Given the description of an element on the screen output the (x, y) to click on. 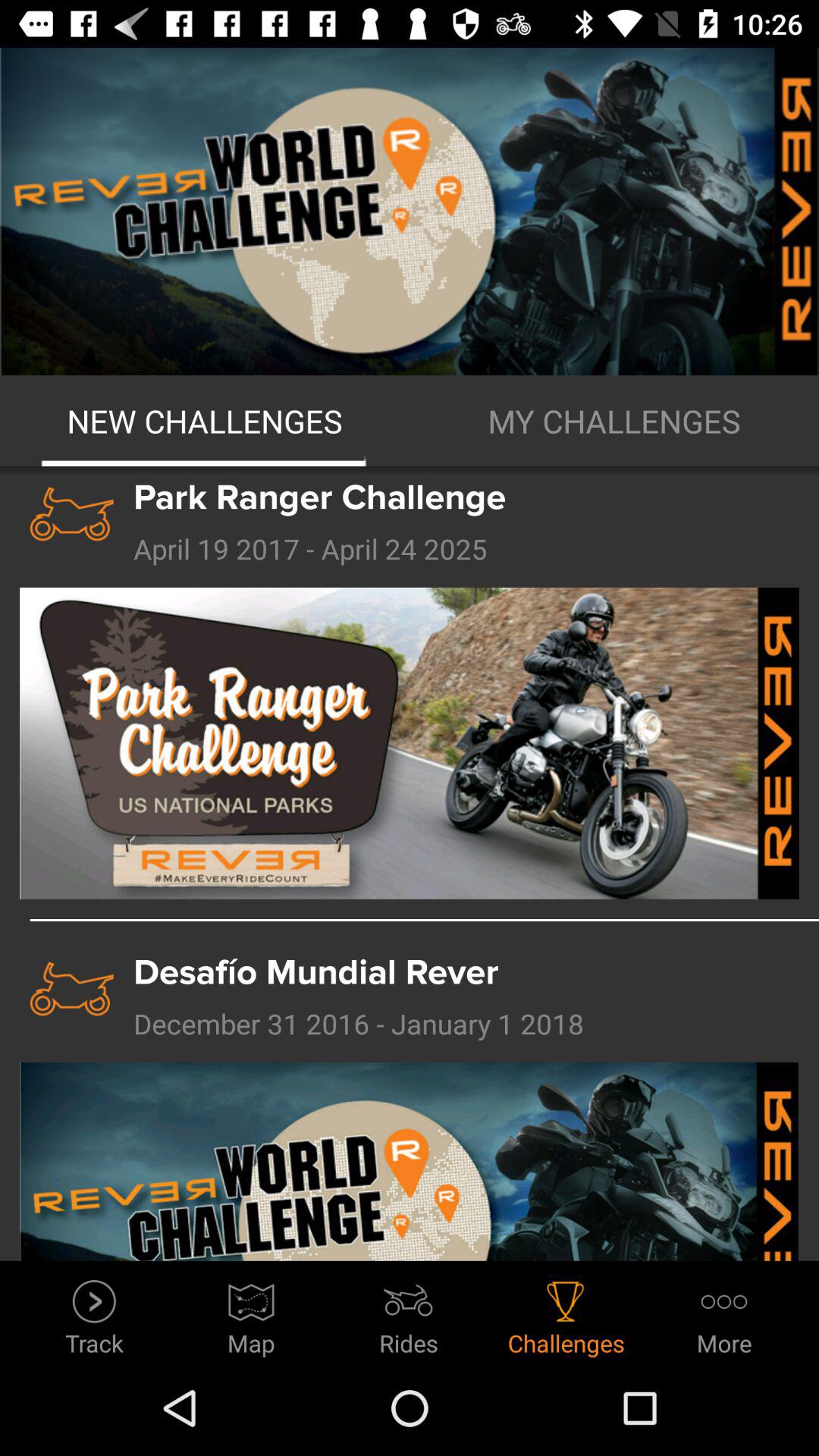
choose the icon to the right of challenges (724, 1313)
